Given the description of an element on the screen output the (x, y) to click on. 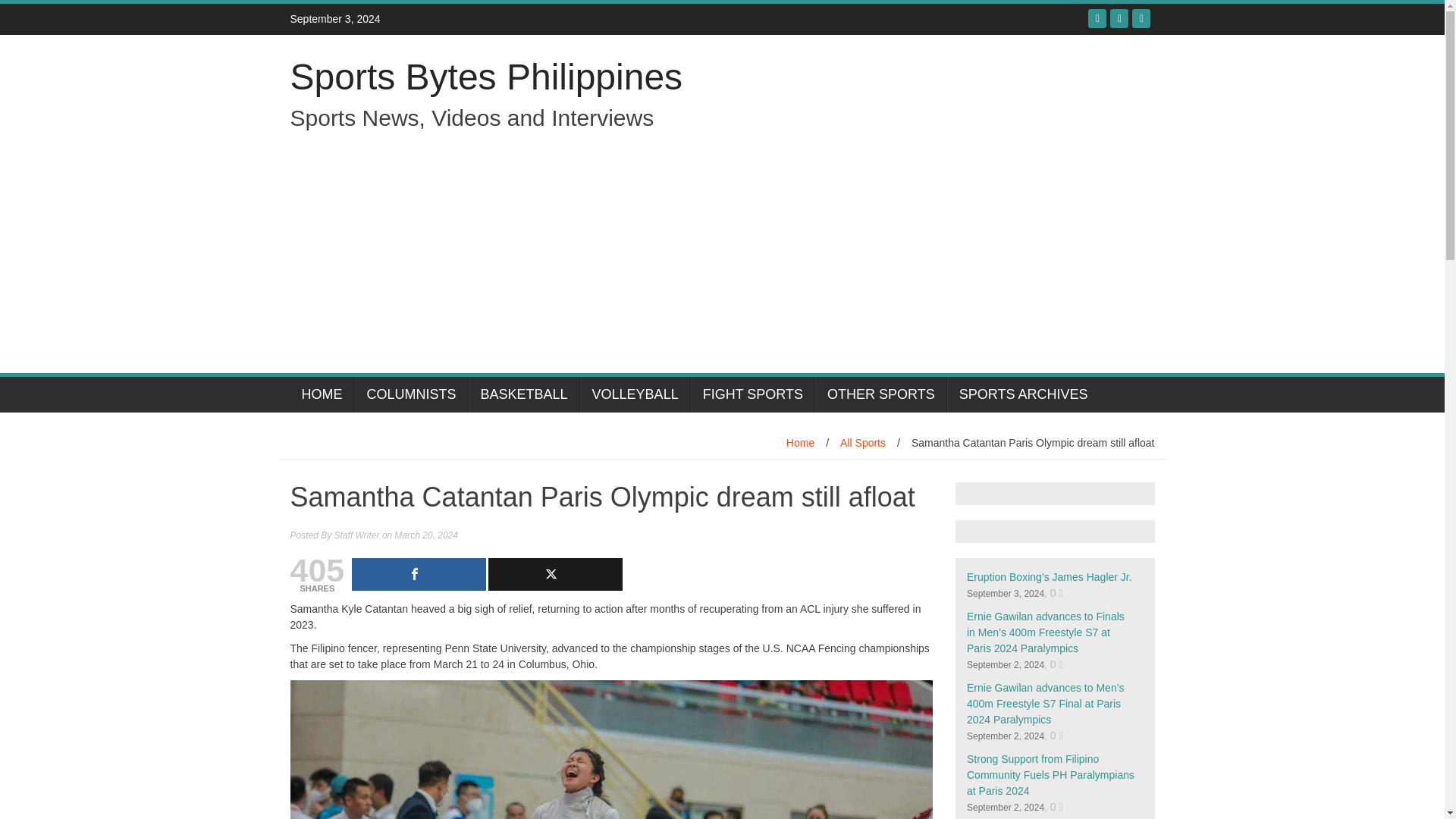
Staff Writer (357, 534)
SPORTS ARCHIVES (1023, 394)
Share (419, 573)
Tweet (555, 573)
Youtube (1141, 18)
HOME (321, 394)
Facebook (1096, 18)
Posts by Staff Writer (357, 534)
OTHER SPORTS (880, 394)
